Given the description of an element on the screen output the (x, y) to click on. 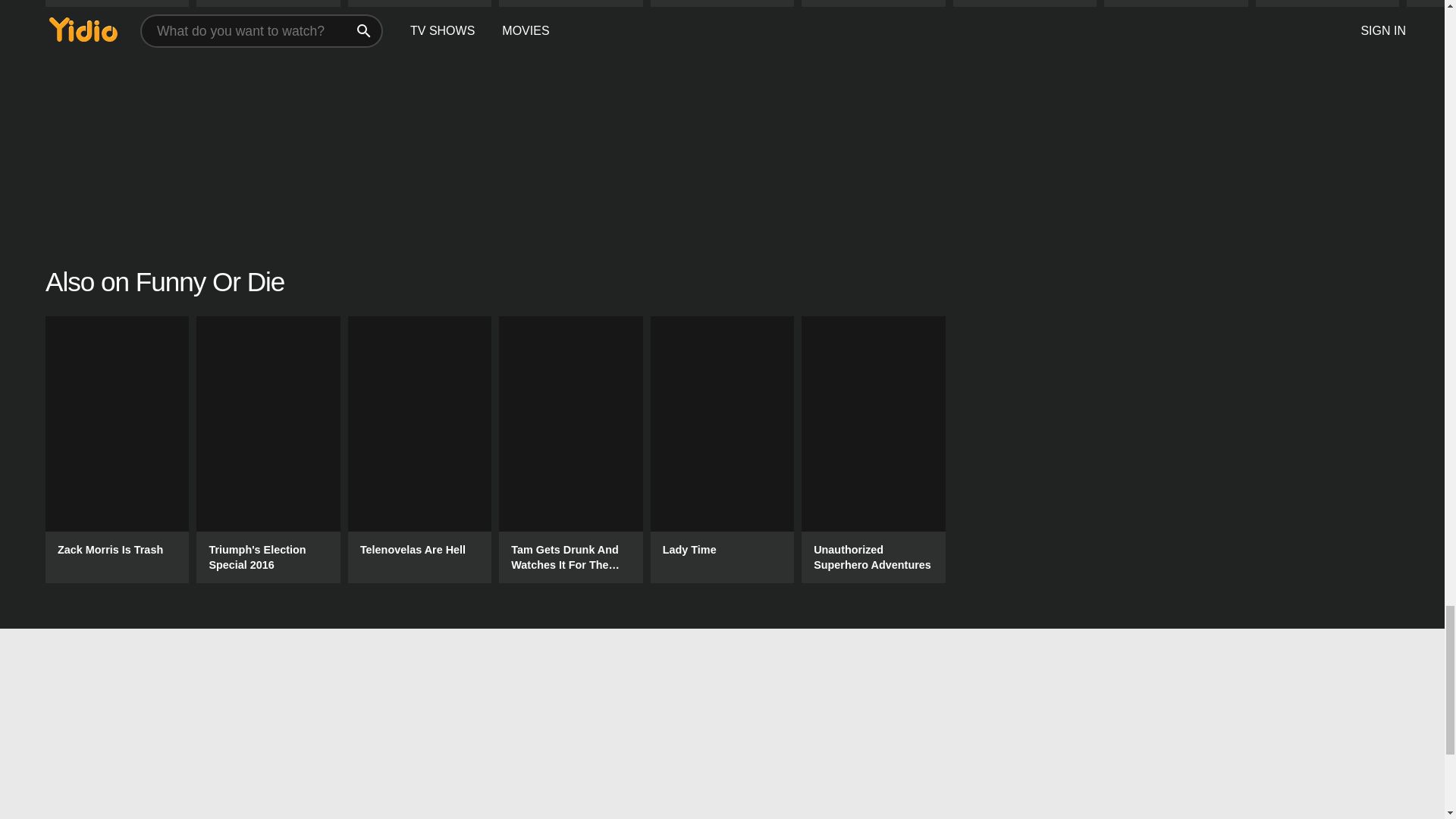
Hijack (570, 3)
The Problem With Jon Stewart (1175, 3)
Masters Of The Air (419, 3)
Prehistoric Planet (873, 3)
Black Bird (1327, 3)
Monarch: Legacy Of Monsters (1024, 3)
SEE (721, 3)
Swagger (267, 3)
Presumed Innocent (117, 3)
